Given the description of an element on the screen output the (x, y) to click on. 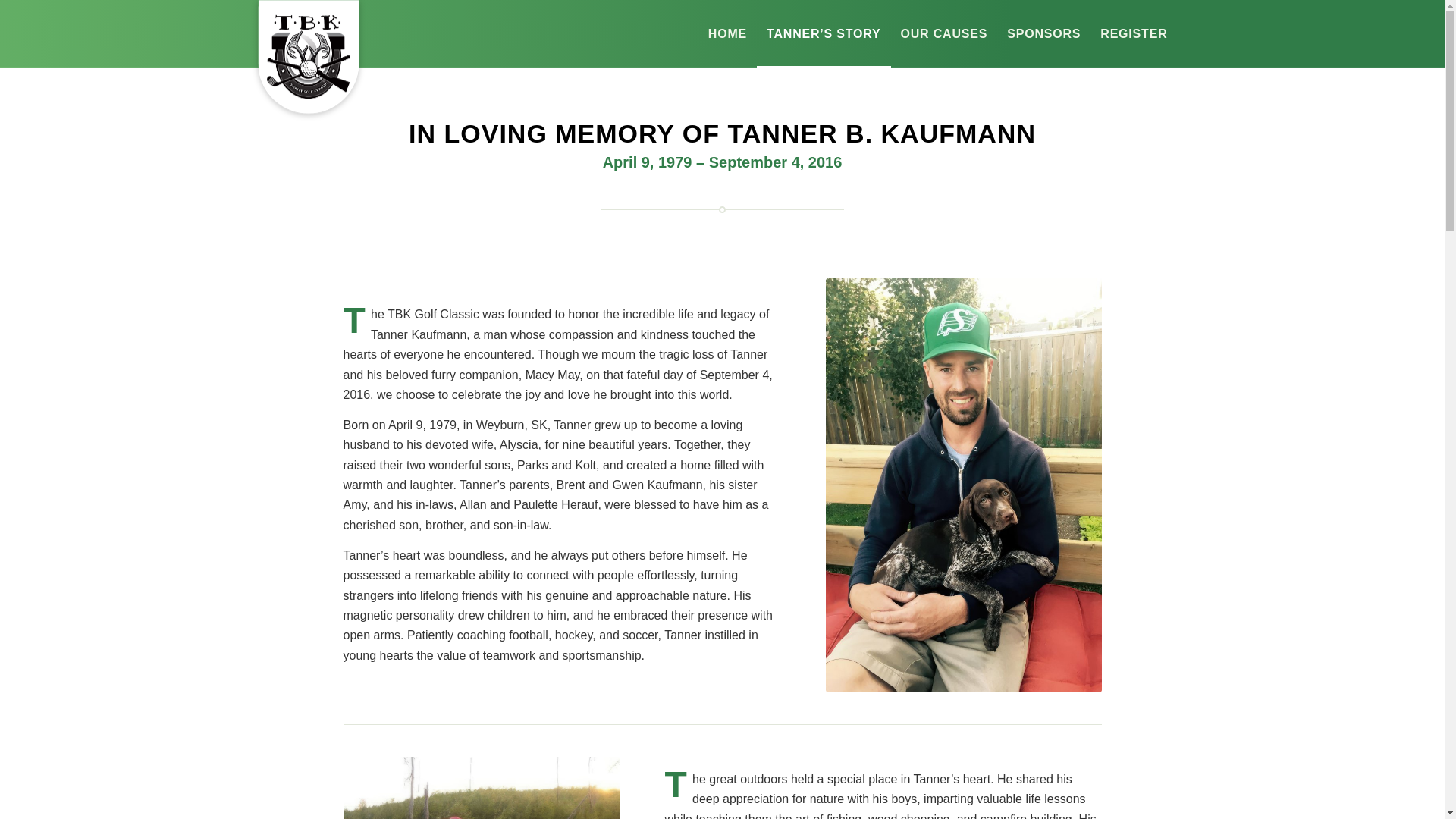
Tanner Fishing gigapixel (480, 787)
HOME (727, 33)
Tanner-Kaufmann-gigapixel (962, 485)
SPONSORS (1043, 33)
OUR CAUSES (944, 33)
REGISTER (1133, 33)
